Given the description of an element on the screen output the (x, y) to click on. 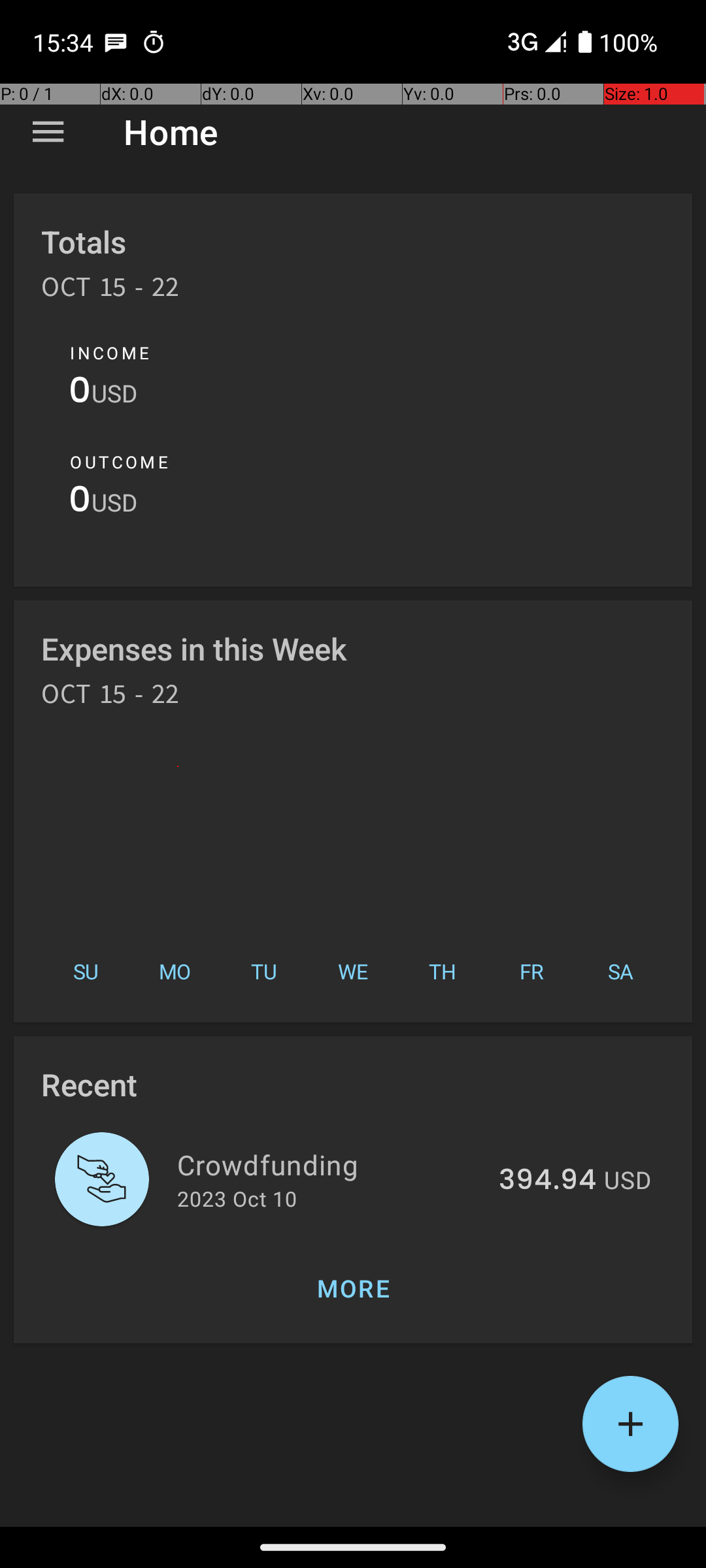
Crowdfunding Element type: android.widget.TextView (330, 1164)
394.94 Element type: android.widget.TextView (547, 1180)
